Given the description of an element on the screen output the (x, y) to click on. 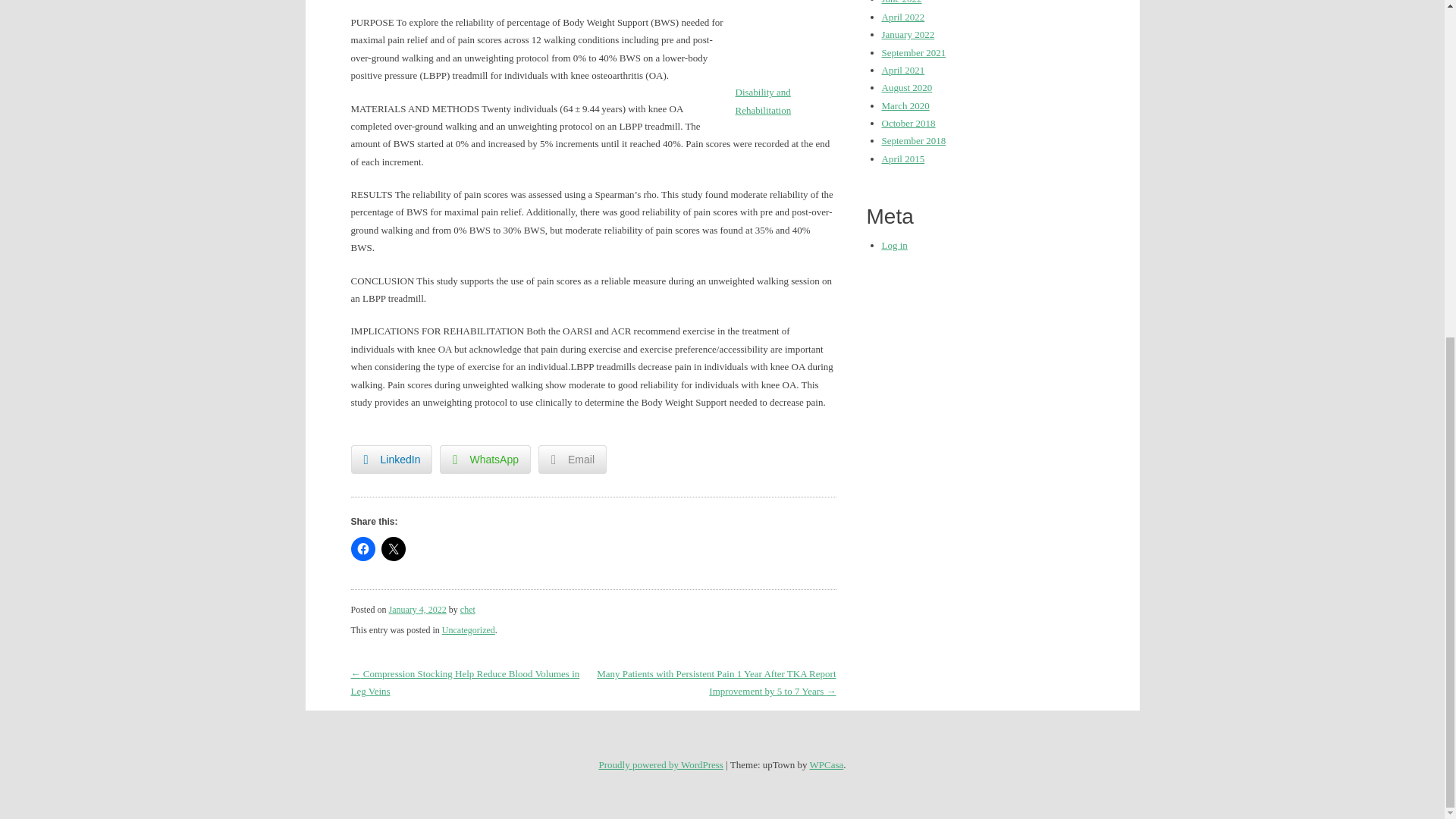
Email (572, 459)
Click to share on X (392, 549)
chet (468, 609)
January 4, 2022 (417, 609)
Disability and Rehabilitation (763, 100)
WhatsApp (485, 459)
LinkedIn (391, 459)
Click to share on Facebook (362, 549)
